Given the description of an element on the screen output the (x, y) to click on. 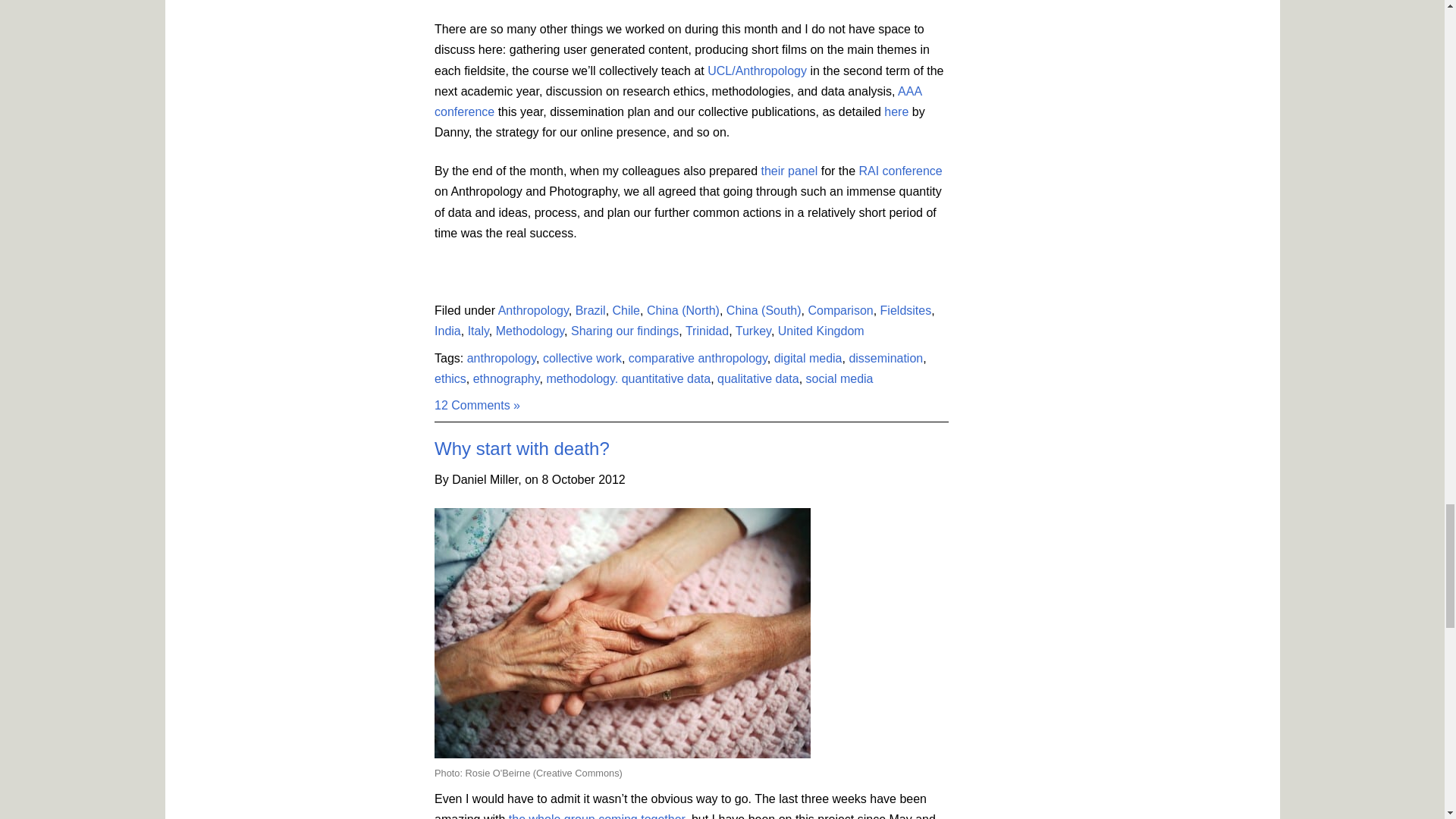
Permanent Link to Why start with death? (521, 448)
Forming groups (596, 816)
holding-elderly-hand (621, 632)
